Given the description of an element on the screen output the (x, y) to click on. 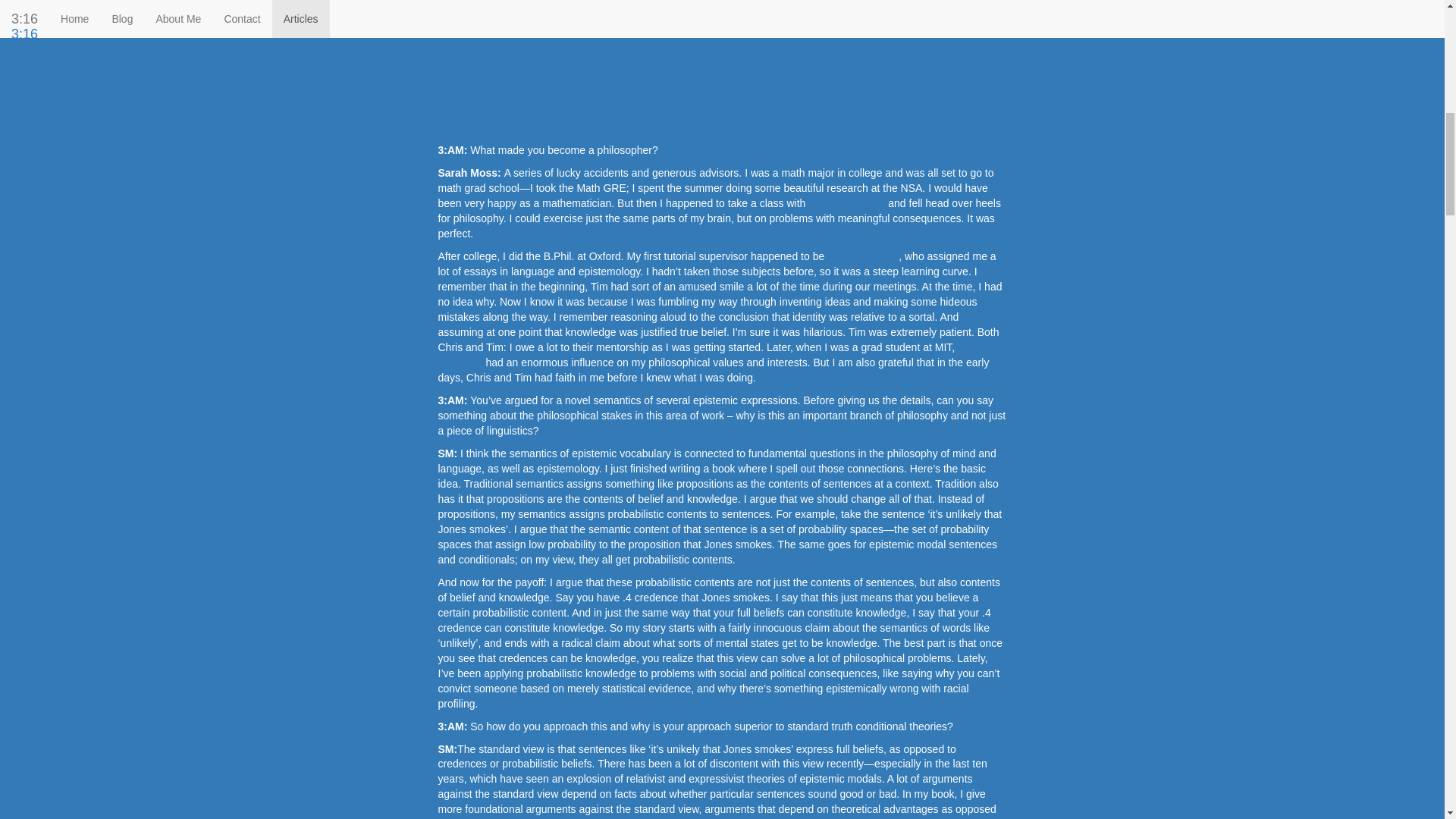
Chris Korsgaard (846, 203)
Tim Williamson (862, 256)
Bob Stalnaker (707, 354)
